Given the description of an element on the screen output the (x, y) to click on. 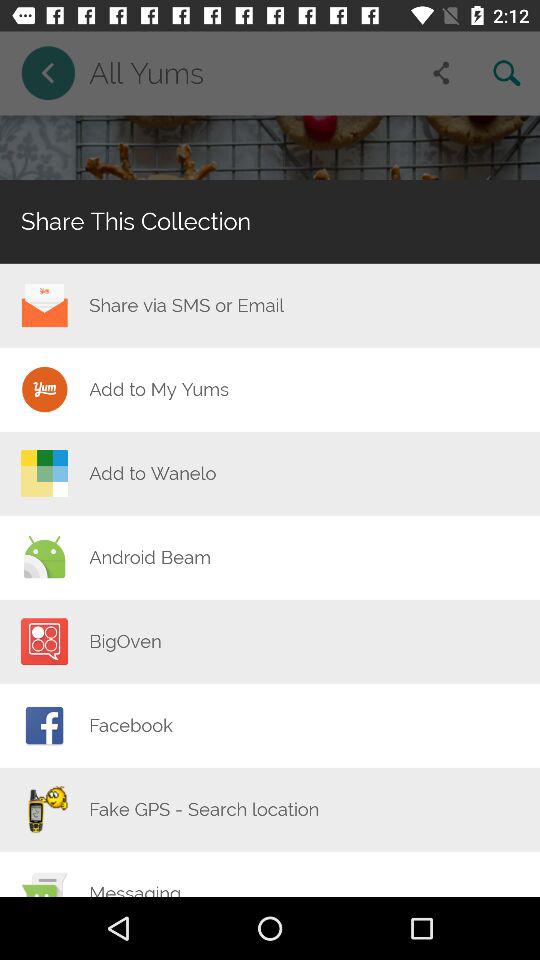
turn on the icon below the bigoven (130, 725)
